Given the description of an element on the screen output the (x, y) to click on. 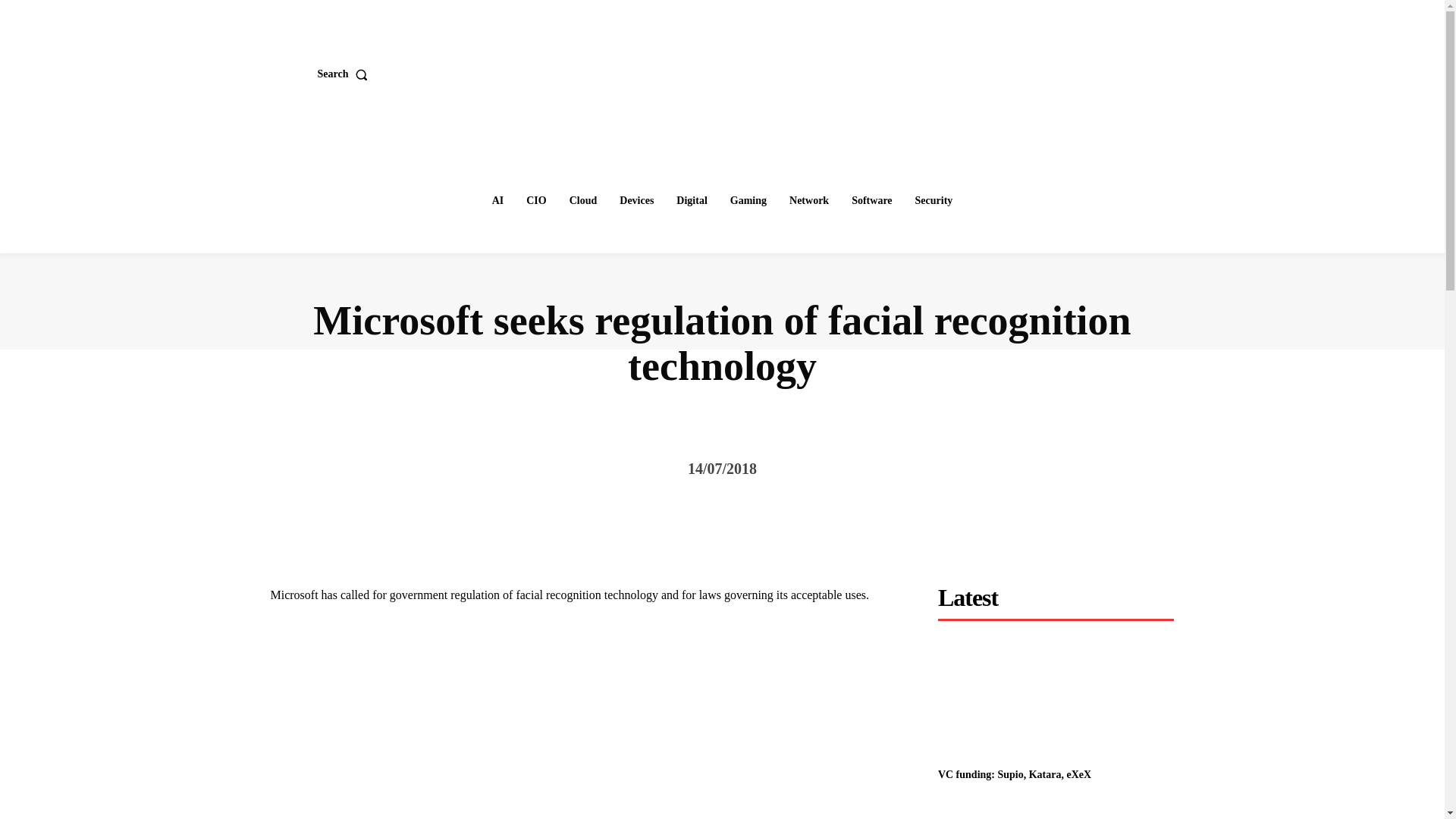
Cloud (583, 201)
Search (345, 74)
CIO (535, 201)
